Given the description of an element on the screen output the (x, y) to click on. 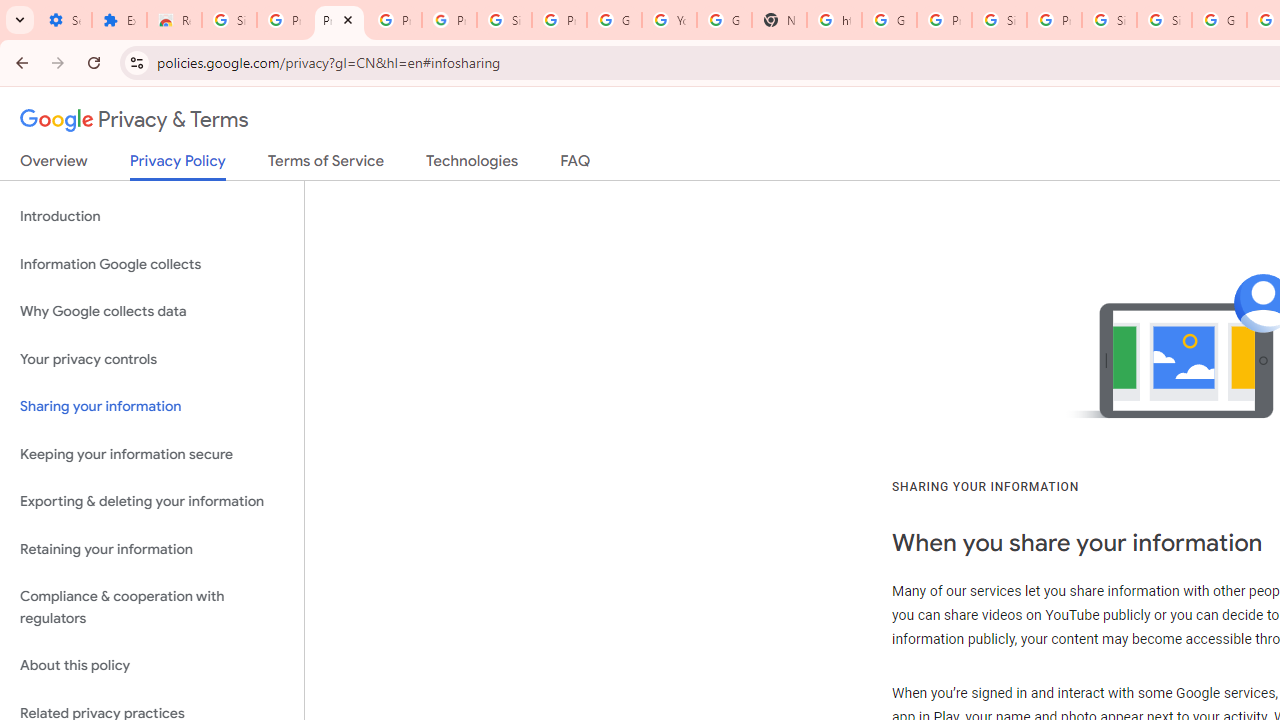
https://scholar.google.com/ (833, 20)
